Given the description of an element on the screen output the (x, y) to click on. 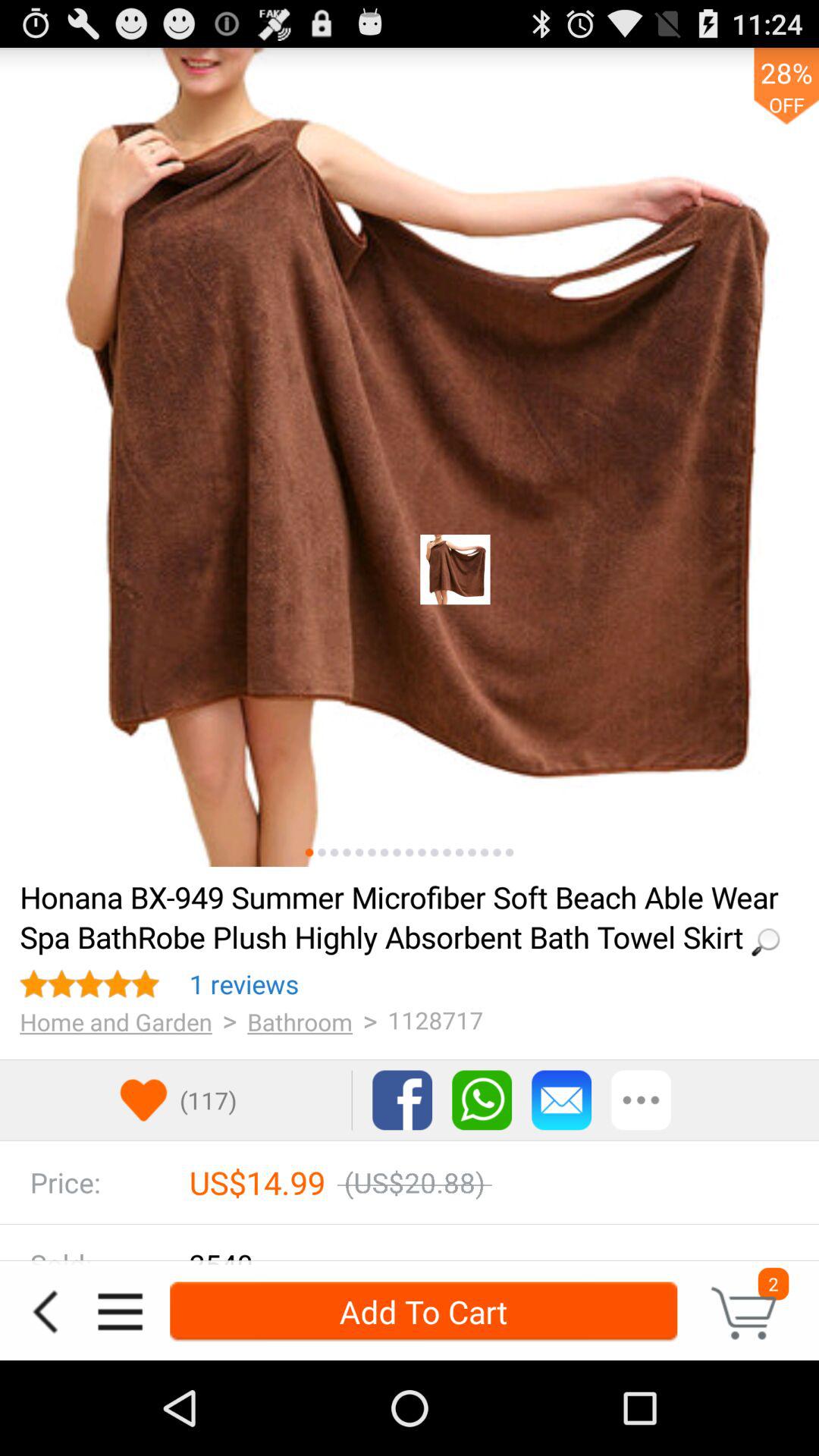
set zoom (359, 852)
